Given the description of an element on the screen output the (x, y) to click on. 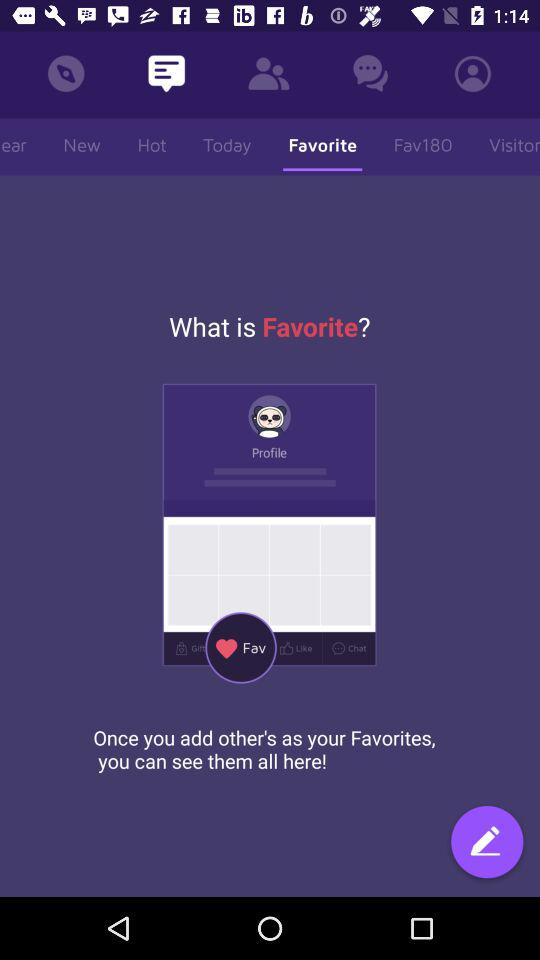
edit (487, 844)
